Given the description of an element on the screen output the (x, y) to click on. 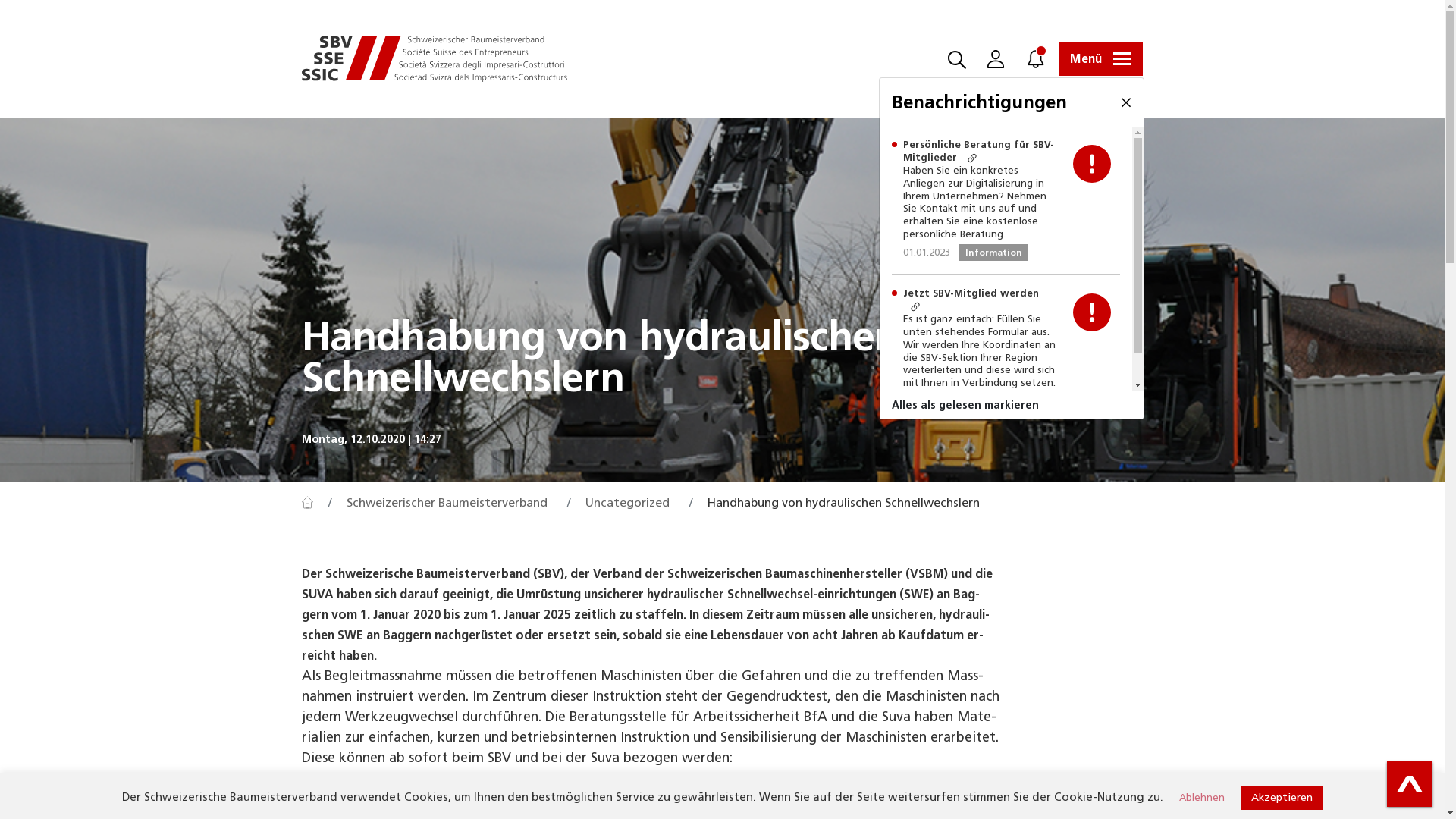
Alles als gelesen markieren Element type: text (1011, 405)
Schweizerischer Baumeisterverband Element type: hover (434, 58)
Ablehnen Element type: text (1201, 797)
Akzeptieren Element type: text (1281, 797)
